Given the description of an element on the screen output the (x, y) to click on. 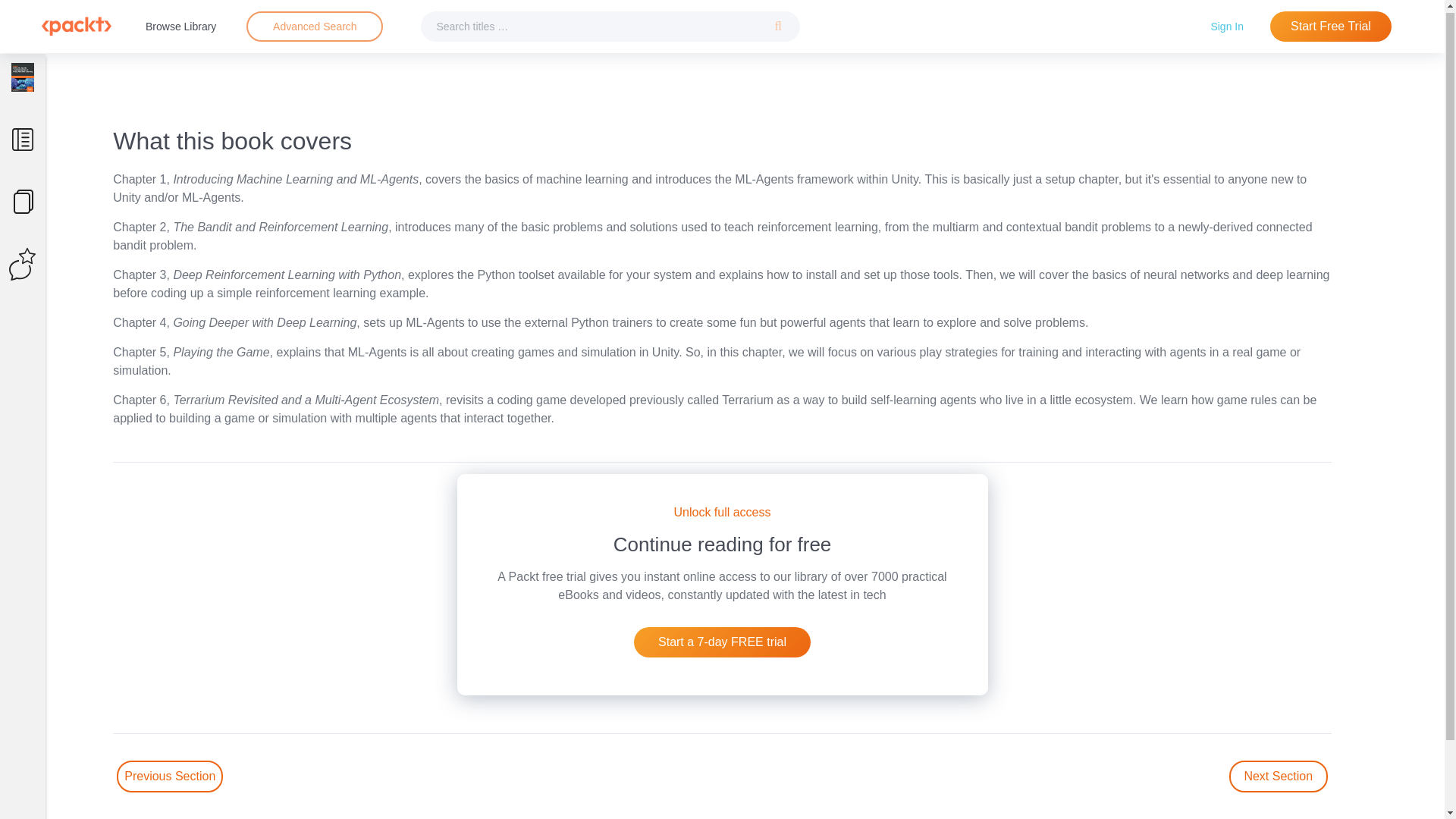
Browse Library (180, 24)
Advanced Search (315, 23)
Advanced search (314, 24)
Go to Previous section (169, 776)
Sign In (1227, 24)
Start Free Trial (1330, 24)
Go to next section (1277, 776)
Advanced Search (314, 24)
